Given the description of an element on the screen output the (x, y) to click on. 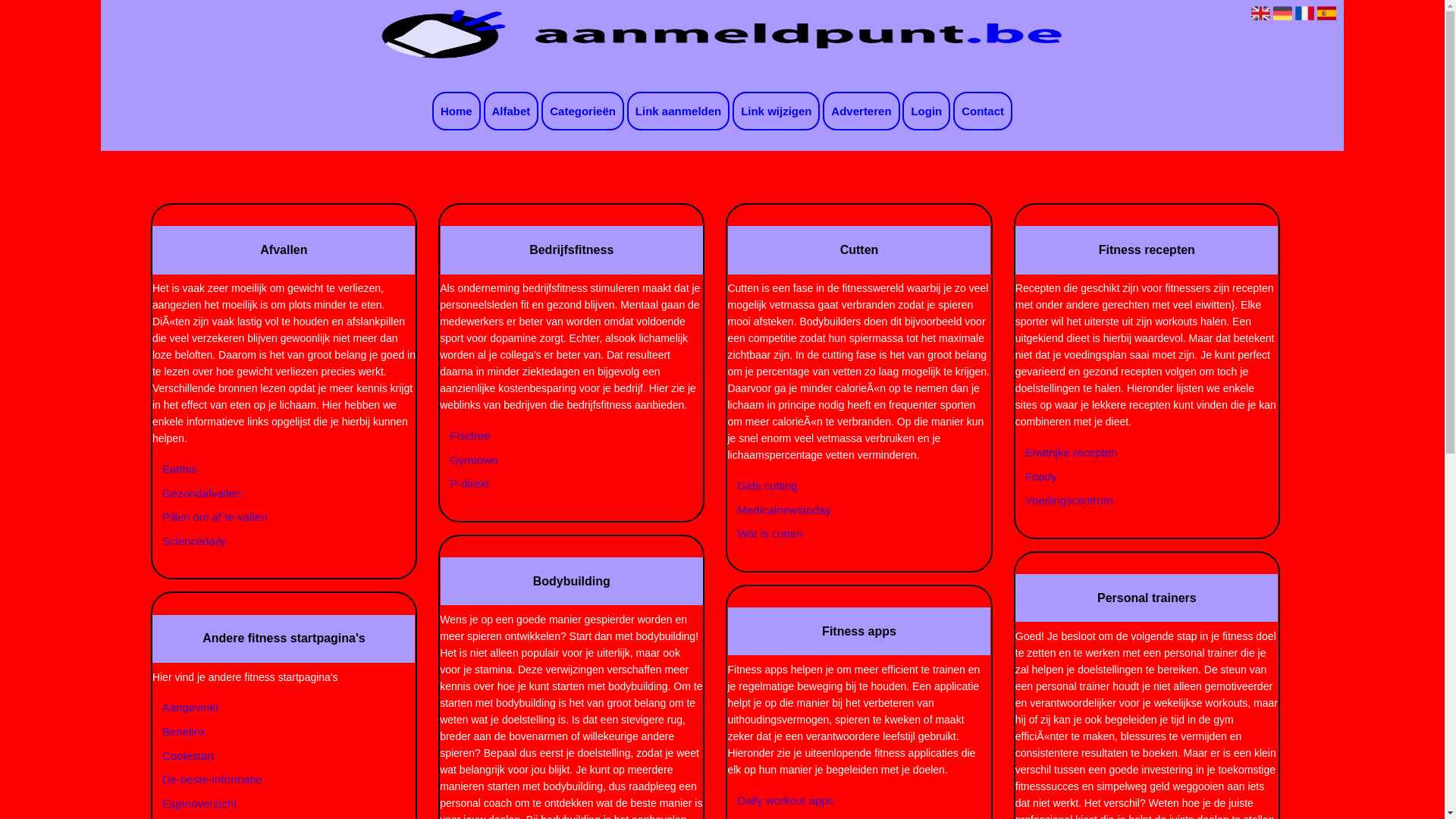
Adverteren Element type: text (860, 110)
Voedingscentrum Element type: text (1137, 500)
De-beste-informatie Element type: text (274, 779)
P-direkt Element type: text (562, 483)
Gezondafvallen Element type: text (274, 493)
Eatthis Element type: text (274, 469)
Wat is cutten Element type: text (849, 533)
Contact Element type: text (982, 110)
Link aanmelden Element type: text (678, 110)
Gymtown Element type: text (562, 460)
Medicalnewstoday Element type: text (849, 510)
Benelinx Element type: text (274, 731)
Alfabet Element type: text (511, 110)
Coolestart Element type: text (274, 755)
Daily workout apps Element type: text (849, 800)
Eigenoverzicht Element type: text (274, 803)
Link wijzigen Element type: text (775, 110)
Eiwitrijke recepten Element type: text (1137, 452)
Home Element type: text (456, 110)
Fiscfree Element type: text (562, 435)
Foody Element type: text (1137, 476)
Login Element type: text (926, 110)
Sciencedaily Element type: text (274, 541)
Pillen om af te vallen Element type: text (274, 517)
Gids cutting Element type: text (849, 485)
Aangevinkt Element type: text (274, 707)
